Given the description of an element on the screen output the (x, y) to click on. 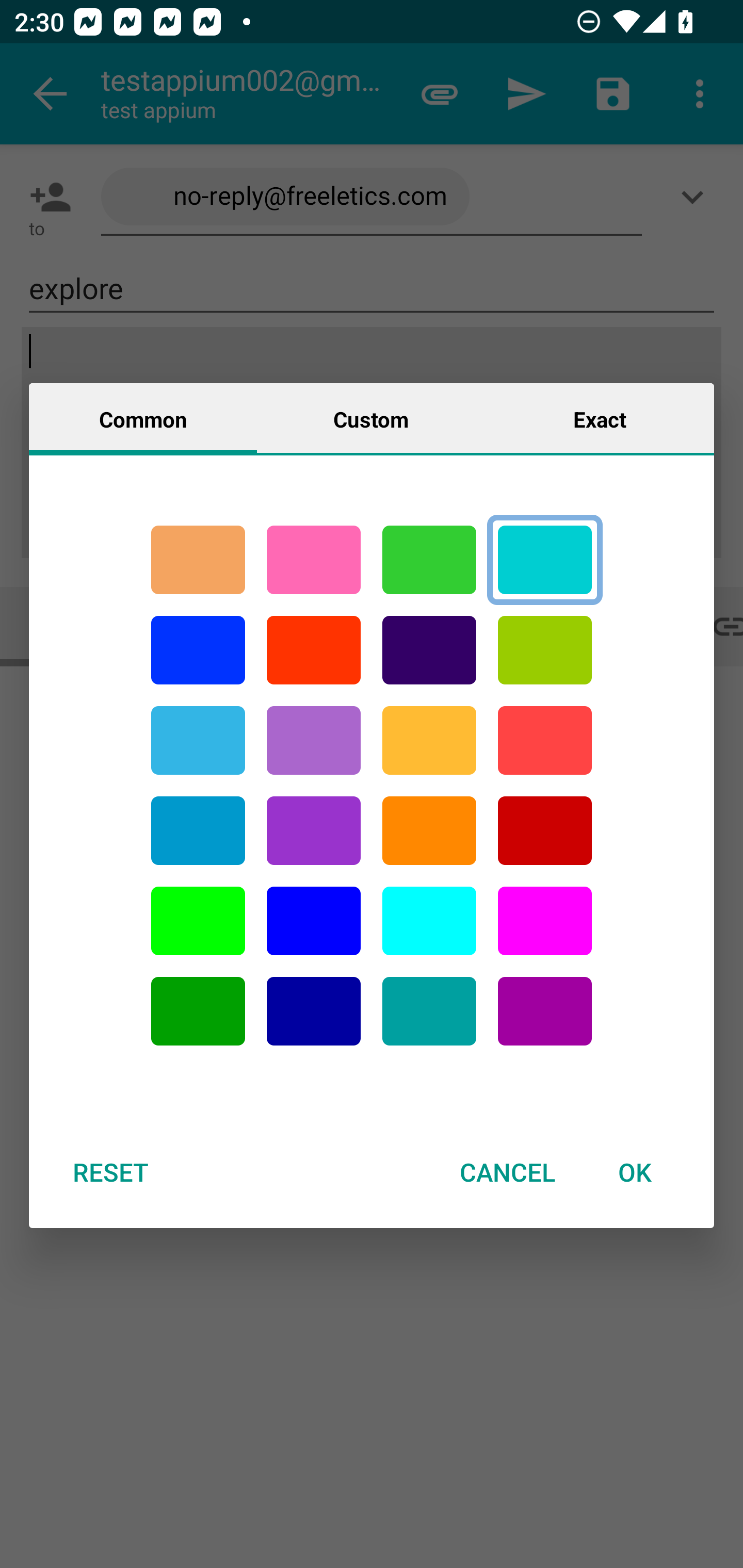
Common (142, 418)
Custom (371, 418)
Exact (599, 418)
Peach (197, 559)
Pink (313, 559)
Green (429, 559)
Cyan (544, 559)
Blue (197, 649)
Red (313, 649)
Dark purple (429, 649)
Light green (544, 649)
Cyan (197, 739)
Purple (313, 739)
Light orange (429, 739)
Light red (544, 739)
Dark cyan (197, 830)
Purple (313, 830)
Orange (429, 830)
Dark red (544, 830)
Light green (197, 920)
Blue (313, 920)
Light cyan (429, 920)
Light purple (544, 920)
Dark green (197, 1010)
Dark blue (313, 1010)
Cyan (429, 1010)
Purple (544, 1010)
RESET (110, 1171)
CANCEL (507, 1171)
OK (634, 1171)
